Given the description of an element on the screen output the (x, y) to click on. 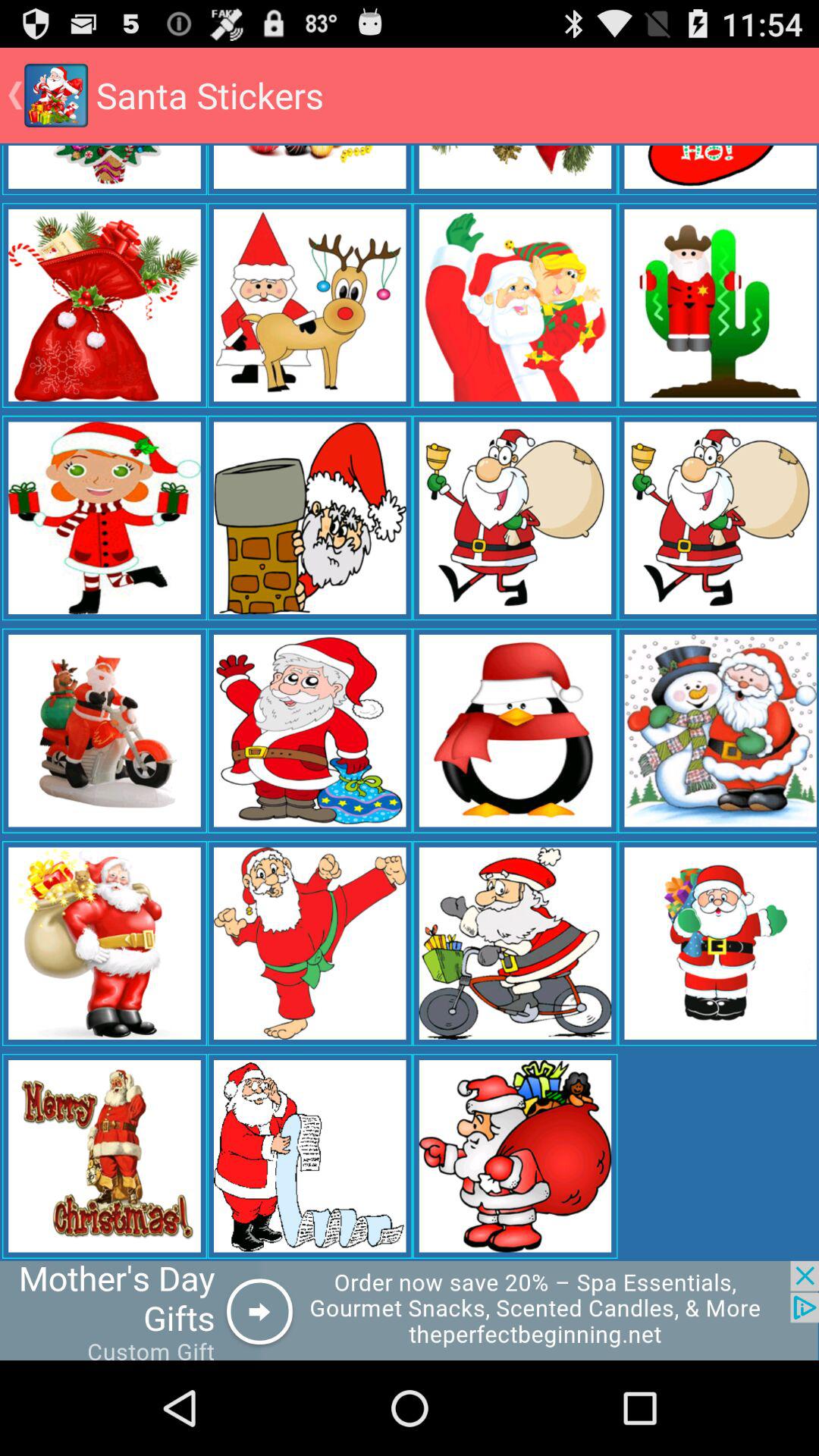
advertiser banner (409, 1310)
